Given the description of an element on the screen output the (x, y) to click on. 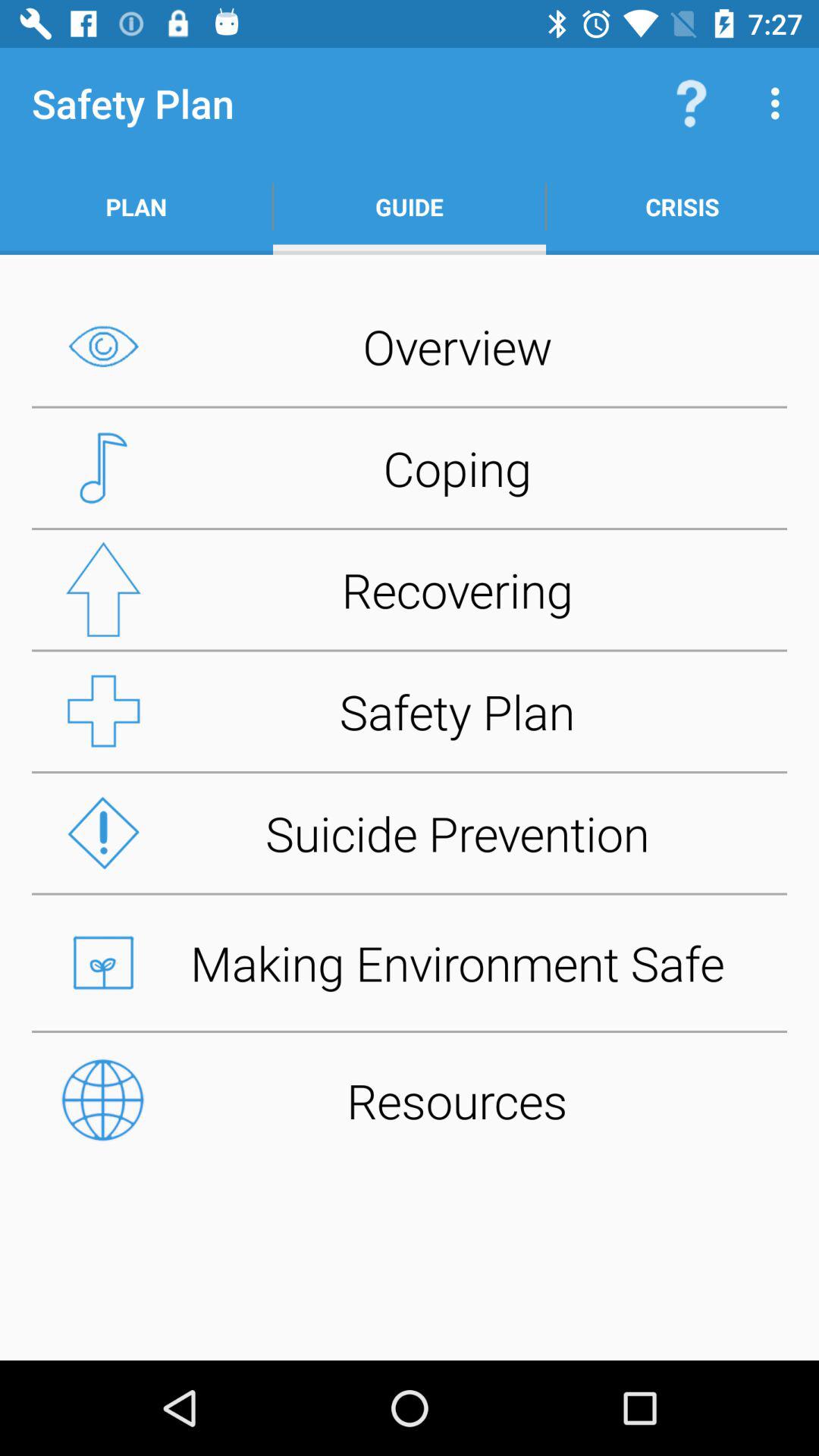
choose the icon to the right of guide item (682, 206)
